Given the description of an element on the screen output the (x, y) to click on. 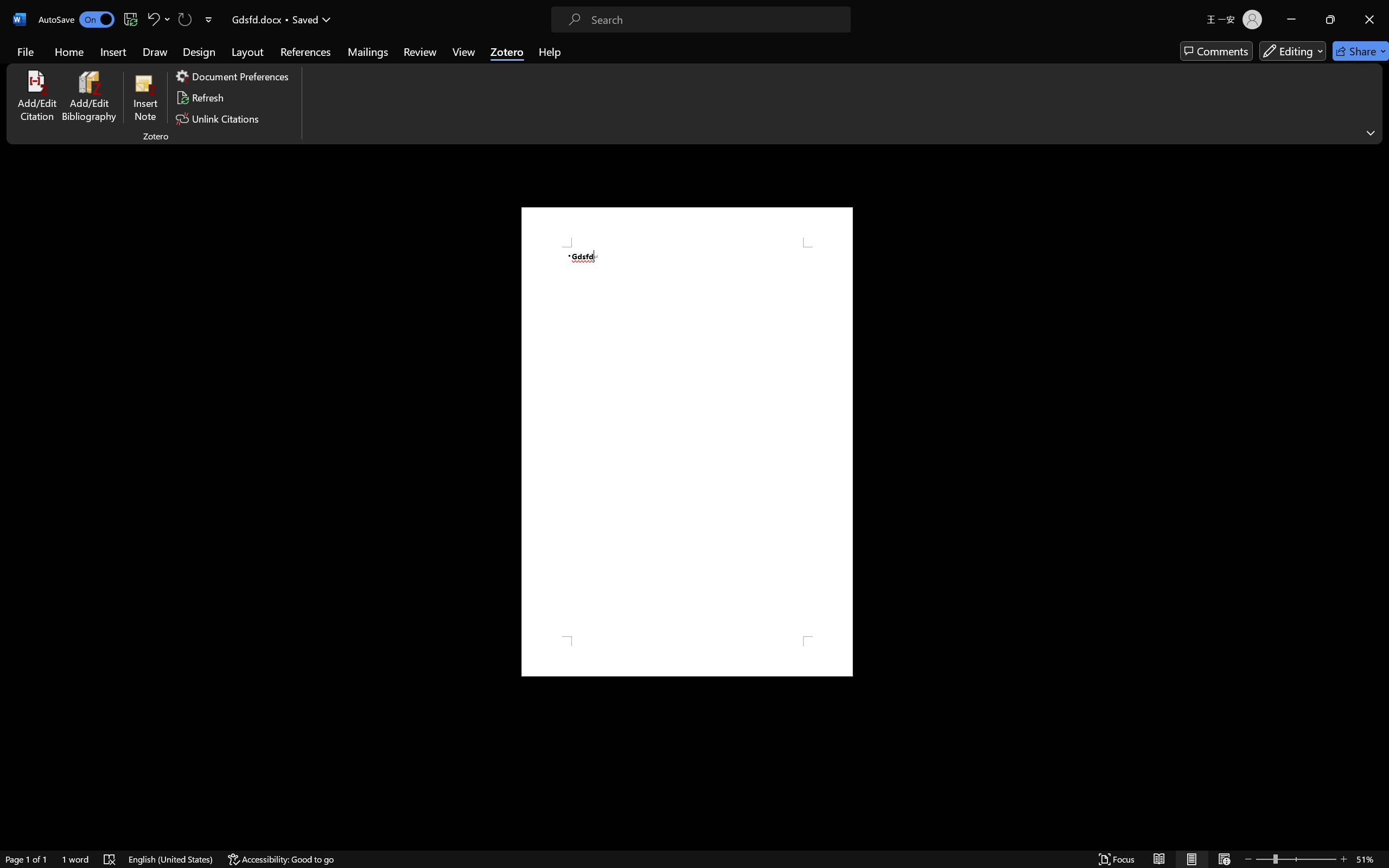
Page 1 content (686, 441)
